Given the description of an element on the screen output the (x, y) to click on. 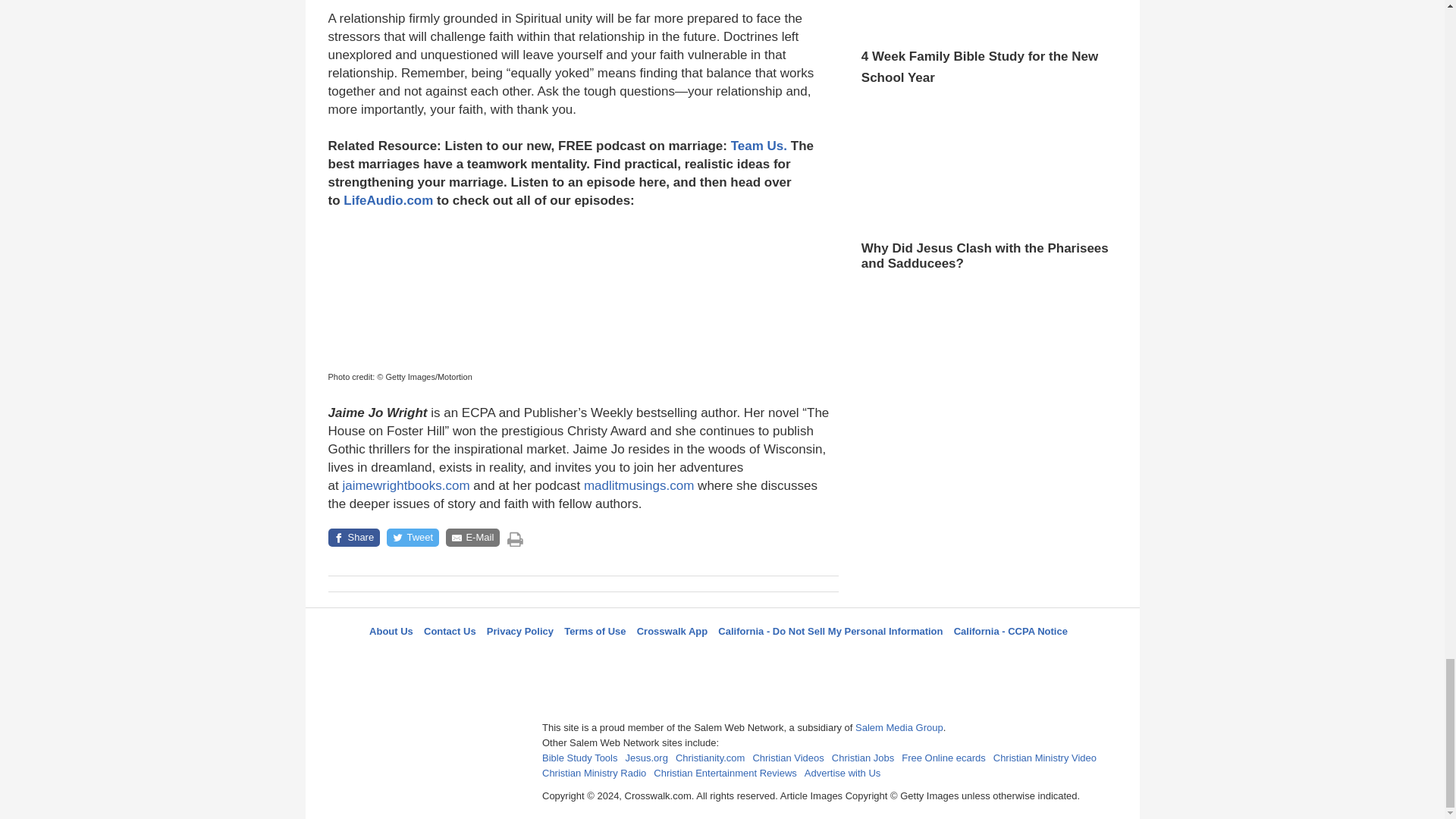
YouTube (795, 658)
Twitter (683, 658)
Facebook (645, 658)
Pinterest (757, 658)
LifeAudio (719, 658)
